Given the description of an element on the screen output the (x, y) to click on. 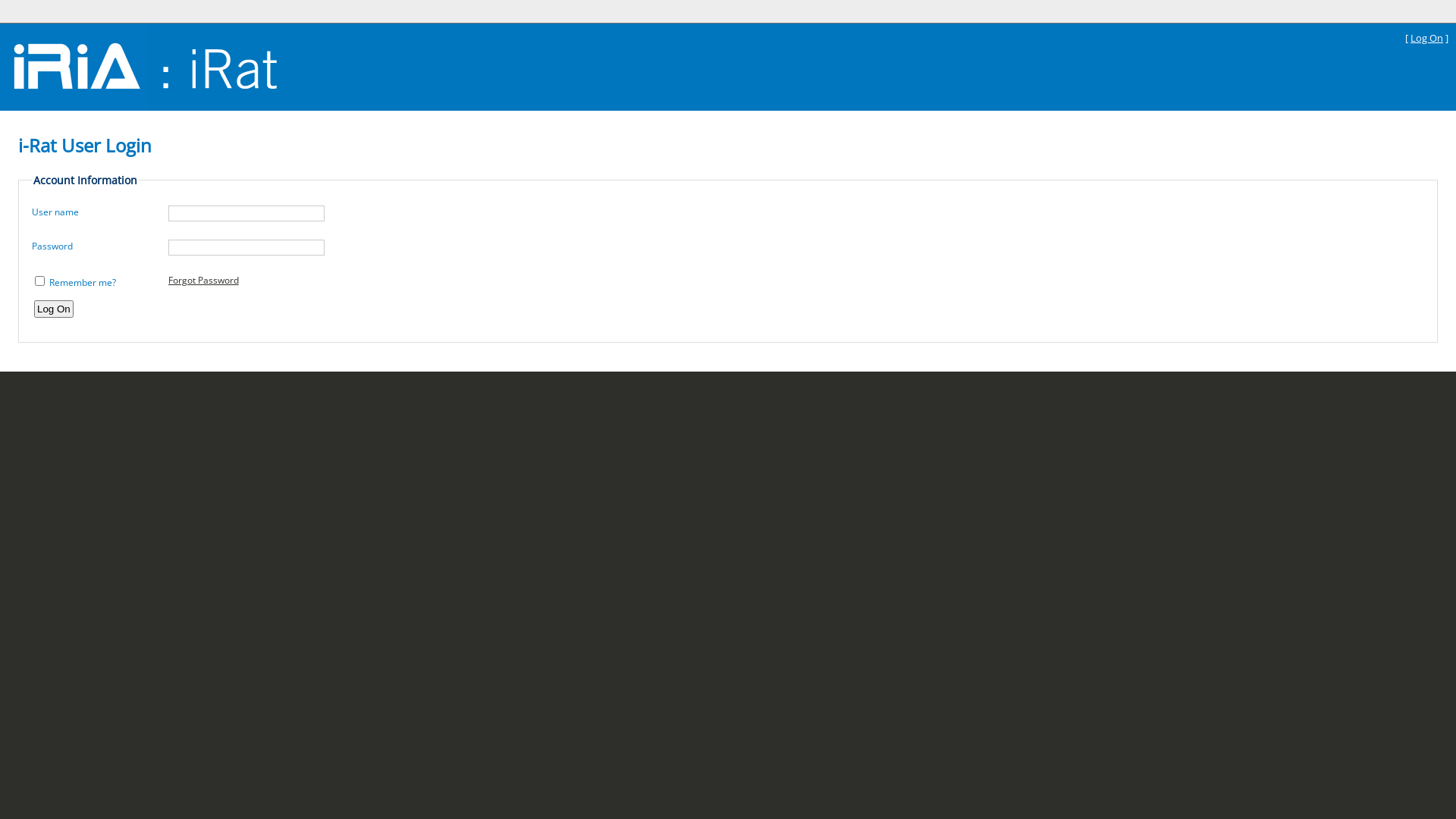
Log On Element type: text (53, 308)
Forgot Password Element type: text (203, 279)
Log On Element type: text (1426, 37)
